Given the description of an element on the screen output the (x, y) to click on. 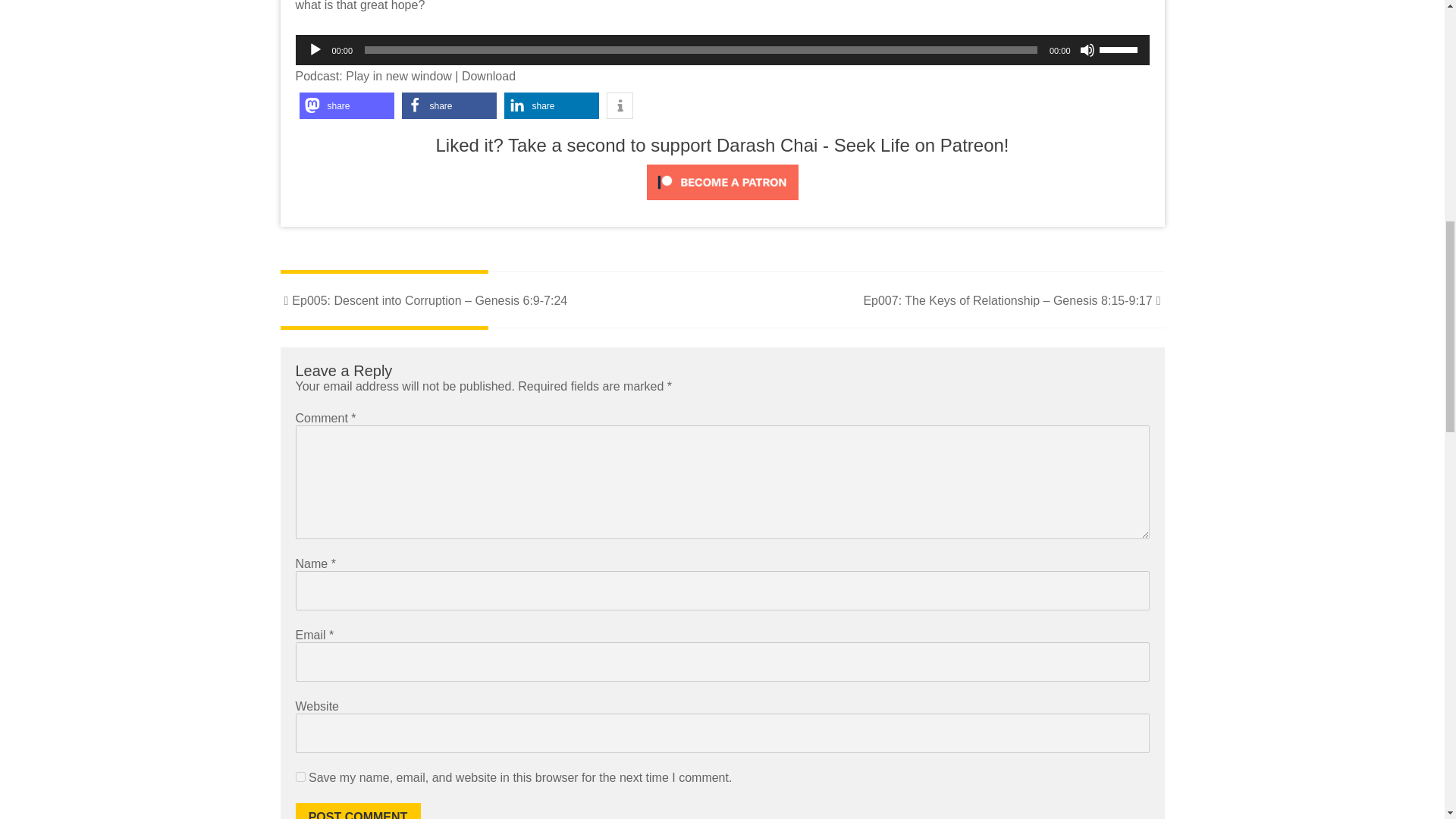
yes (300, 777)
Post Comment (357, 811)
Share on LinkedIn (550, 105)
Play in new window (398, 75)
share  (550, 105)
Download (488, 75)
Play in new window (398, 75)
Mute (1087, 49)
Share on Facebook (448, 105)
Download (488, 75)
